Given the description of an element on the screen output the (x, y) to click on. 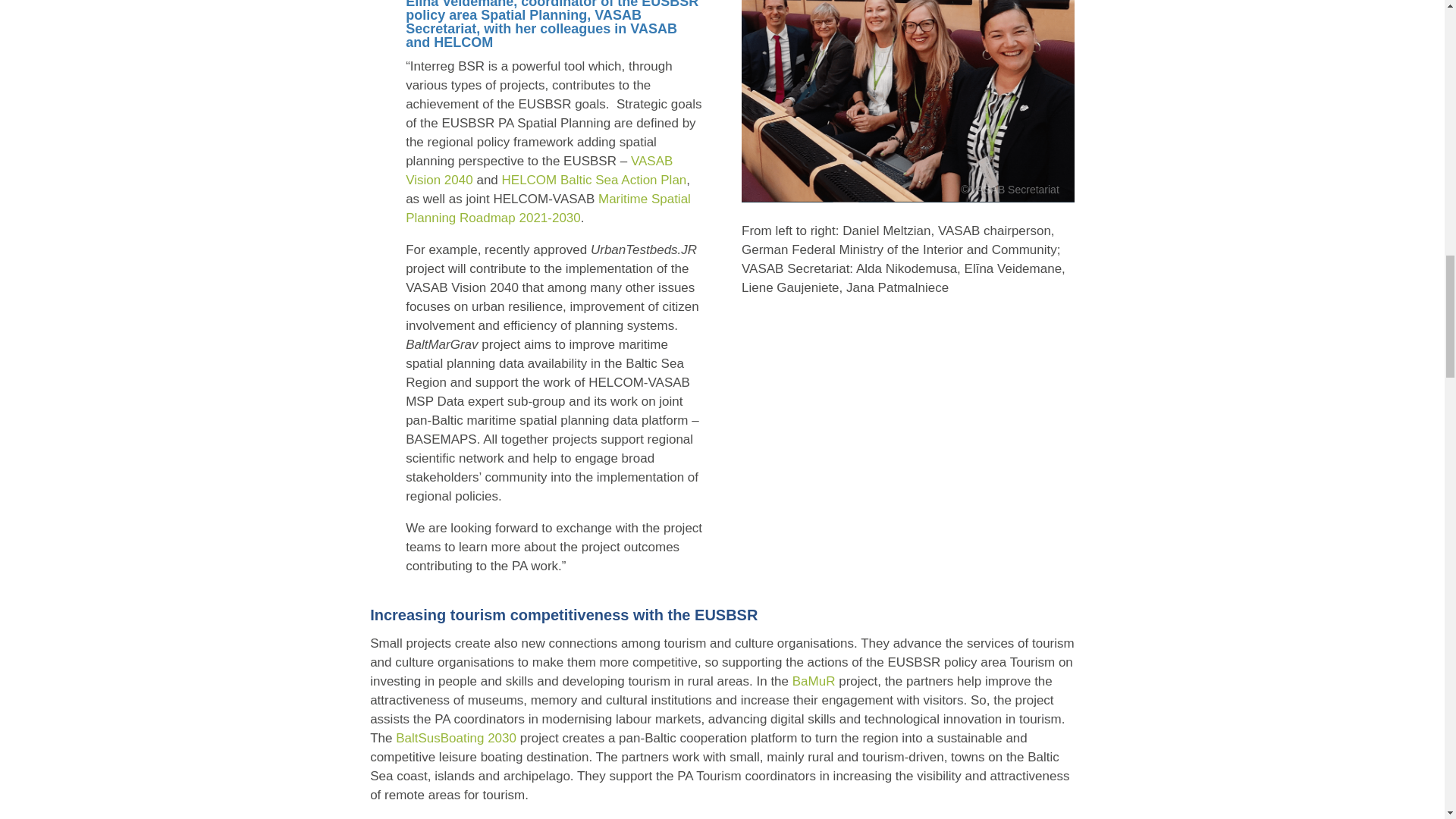
VASAB (907, 101)
